Given the description of an element on the screen output the (x, y) to click on. 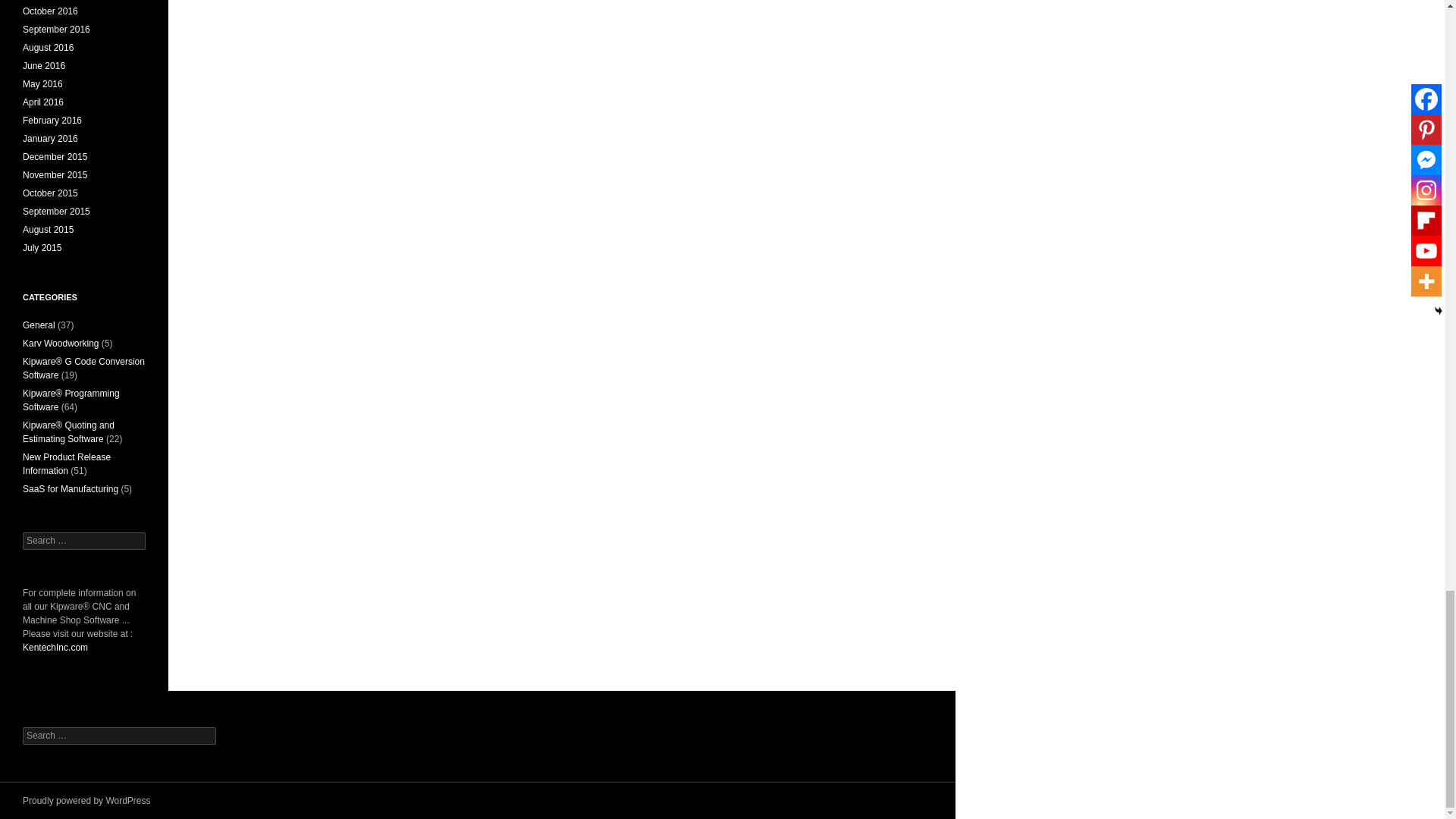
General musings and information. (39, 325)
